Given the description of an element on the screen output the (x, y) to click on. 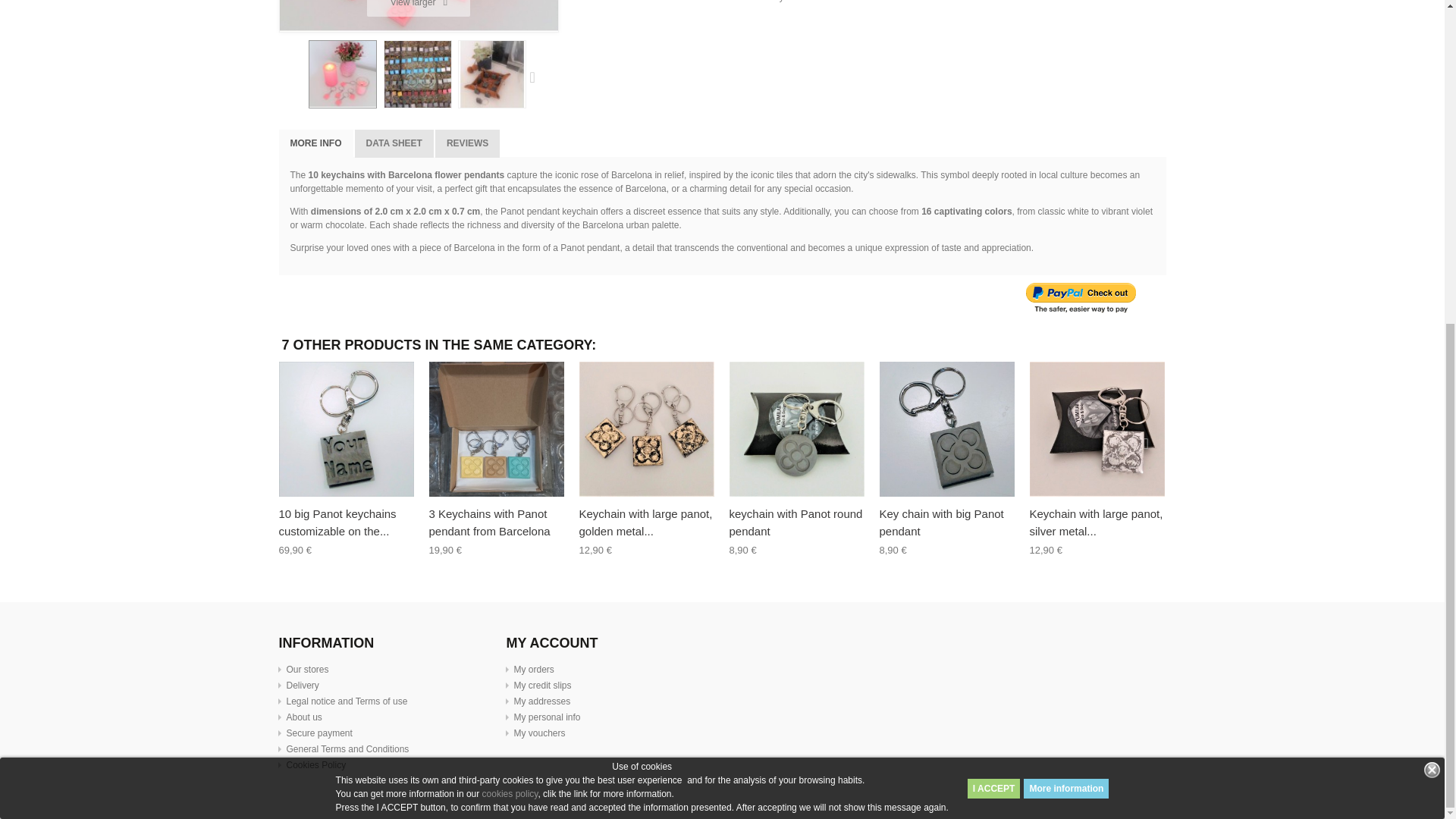
I ACCEPT (994, 258)
